Given the description of an element on the screen output the (x, y) to click on. 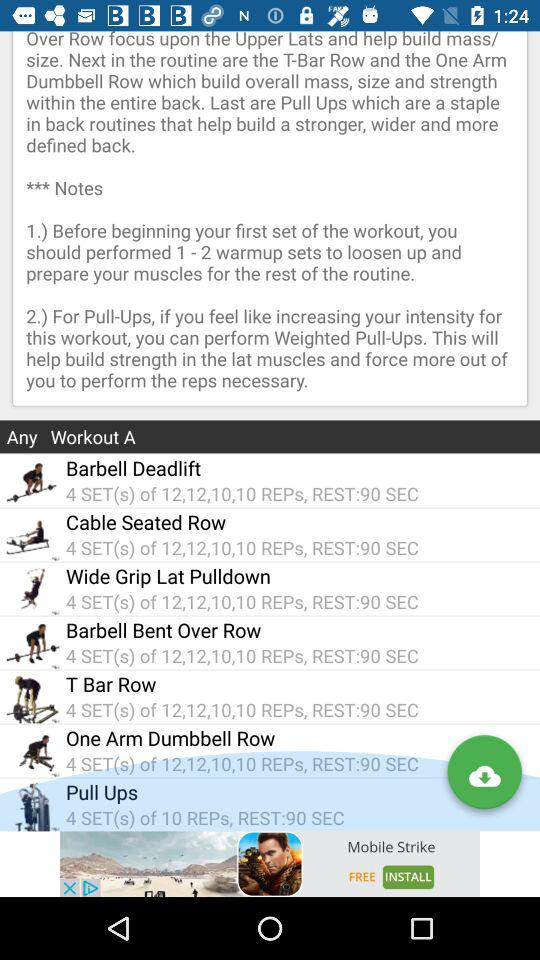
download to cloud (484, 775)
